Given the description of an element on the screen output the (x, y) to click on. 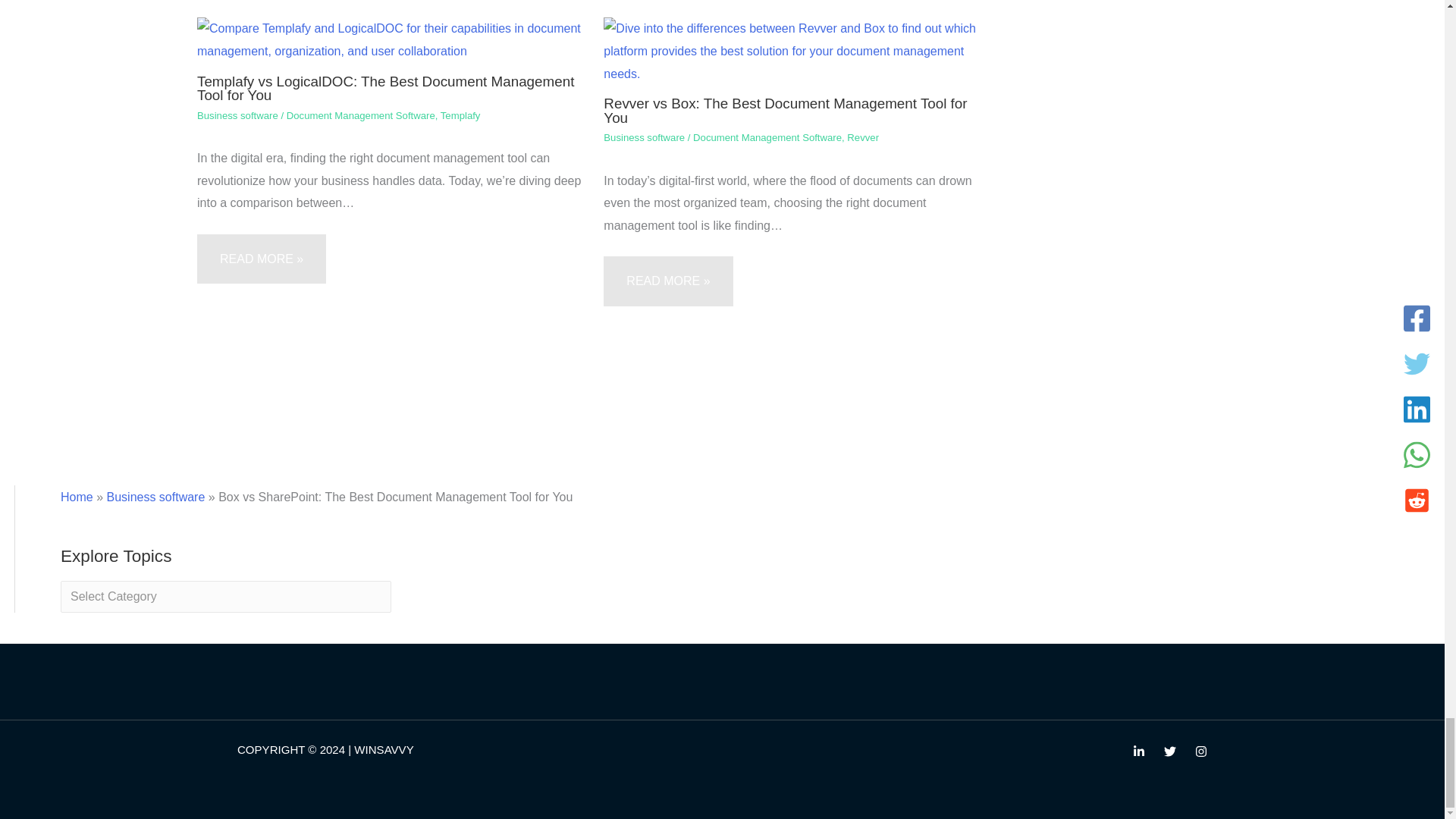
Home (77, 496)
Business software (155, 496)
